Given the description of an element on the screen output the (x, y) to click on. 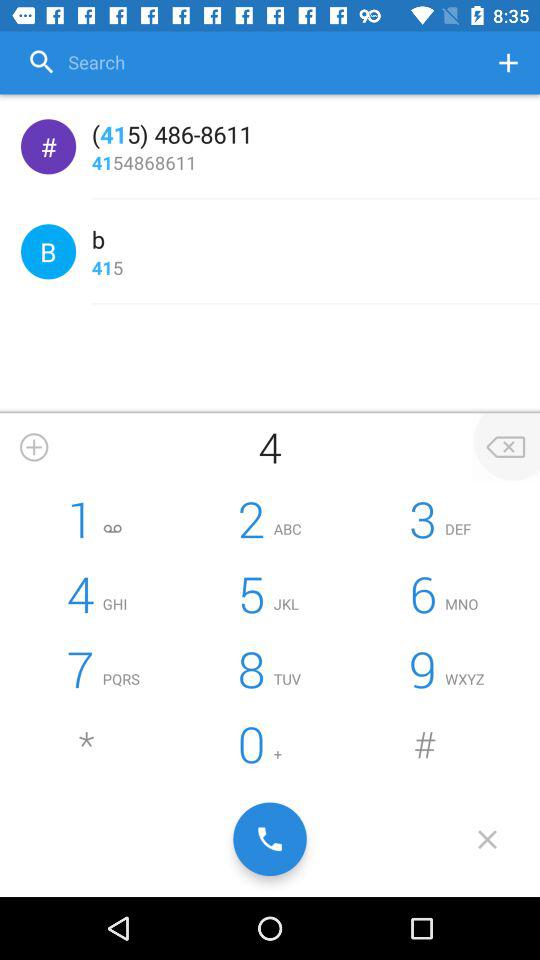
add a new search (508, 62)
